Given the description of an element on the screen output the (x, y) to click on. 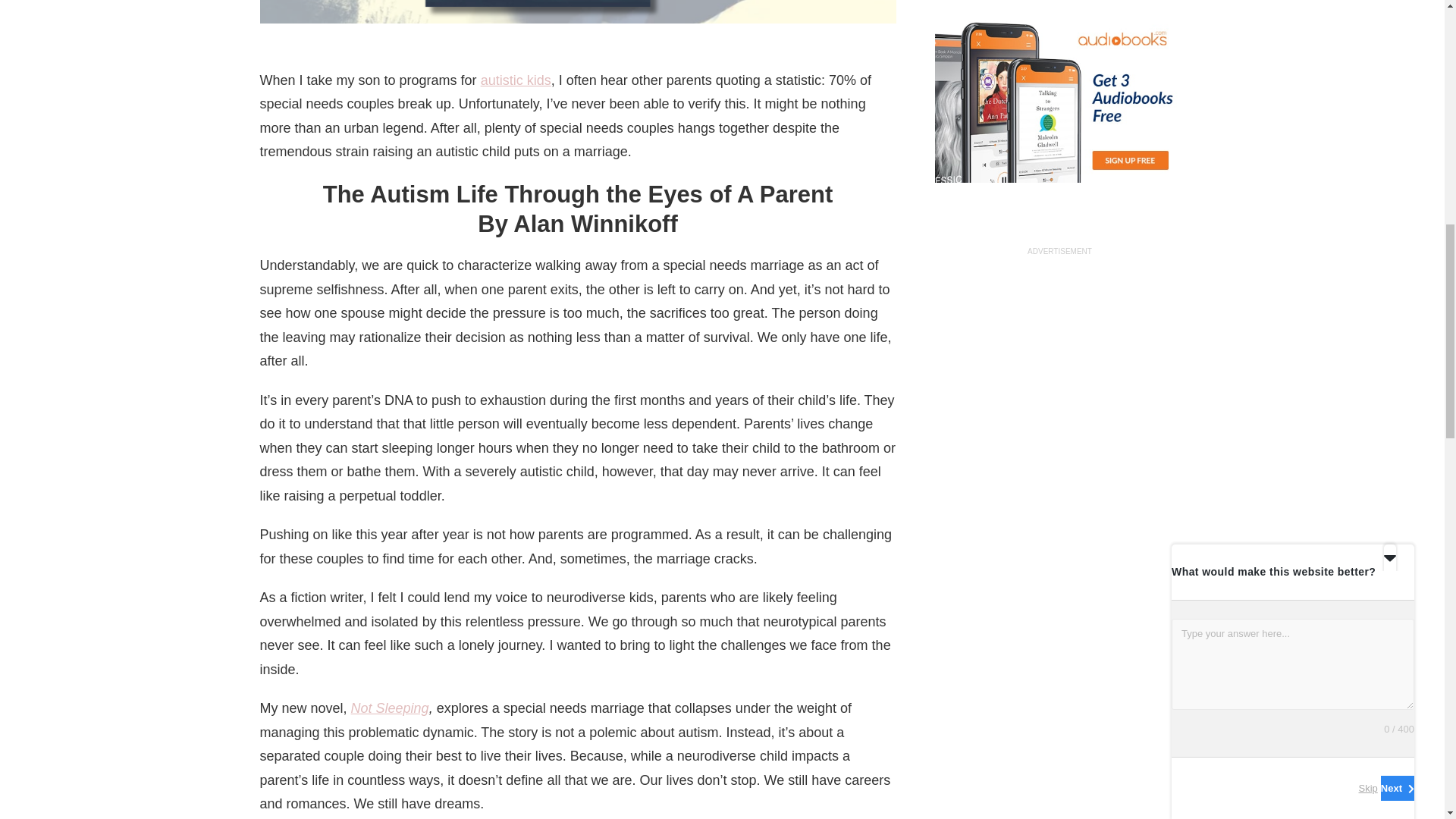
Not Sleeping (389, 708)
autistic kids (515, 79)
